Given the description of an element on the screen output the (x, y) to click on. 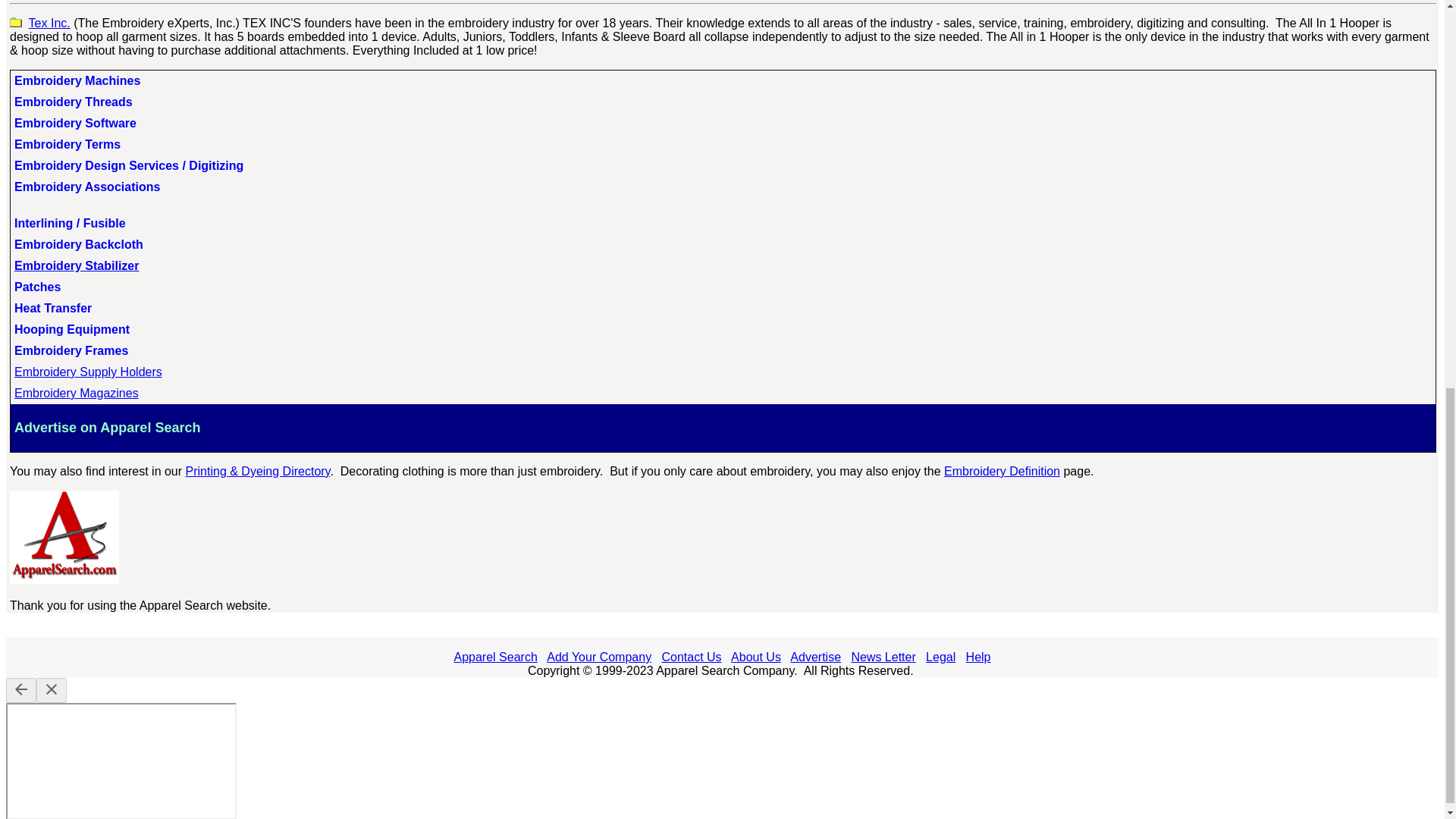
Tex Inc. (49, 22)
Embroidery Backcloth (78, 244)
Embroidery Terms (67, 144)
Add Your Company (598, 656)
fashion directory folder (15, 22)
Embroidery Machines (76, 80)
Heat Transfer (52, 308)
About Us (755, 656)
Embroidery Threads (73, 101)
Embroidery Software (75, 123)
Apparel Search (494, 656)
Contact Us (690, 656)
Embroidery Supply Holders (87, 371)
Apparel Search Fashion Logo (64, 536)
Advertise (815, 656)
